Given the description of an element on the screen output the (x, y) to click on. 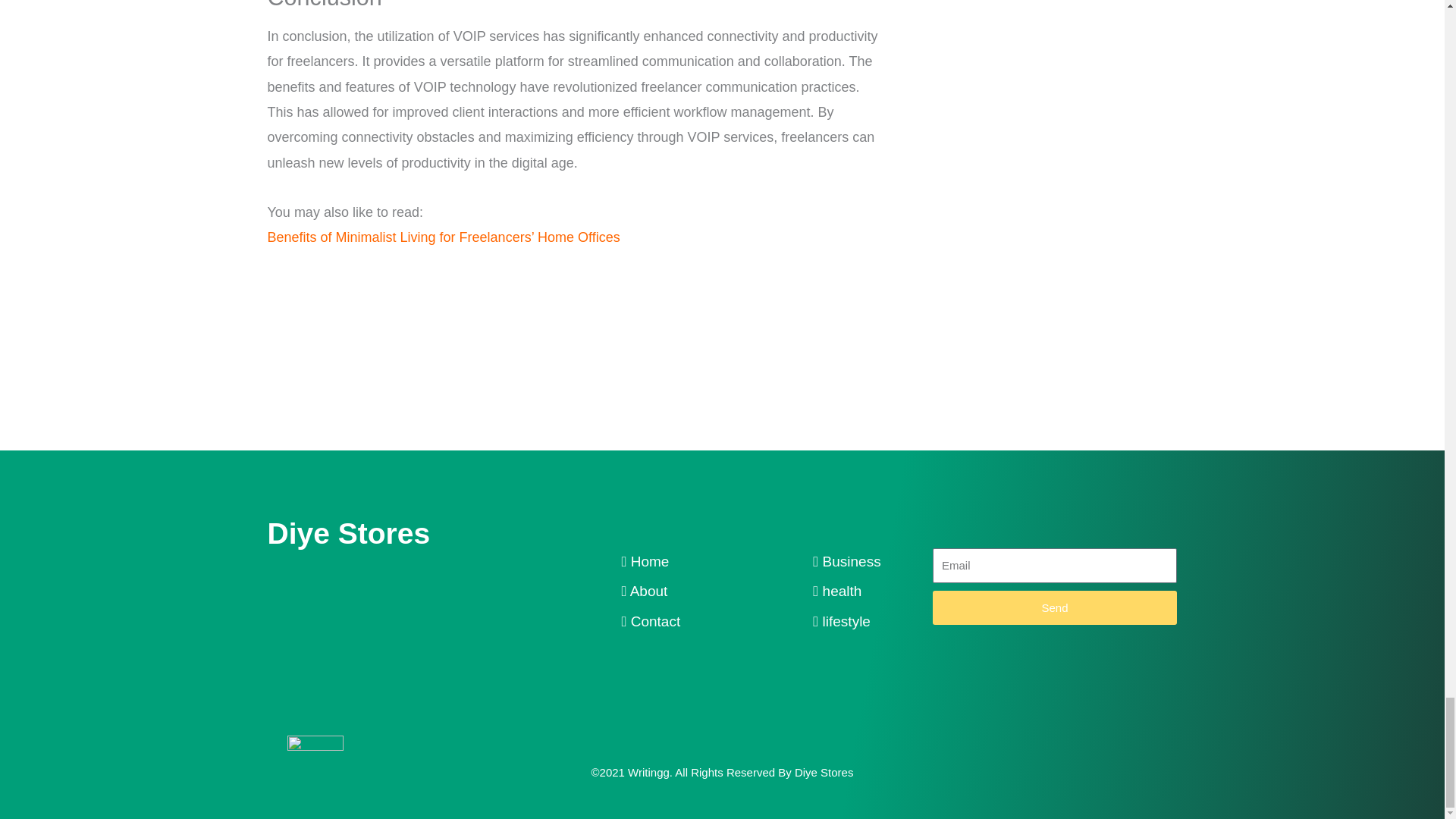
Diye Stores (347, 532)
Contact (650, 621)
lifestyle (841, 621)
Home (644, 561)
health (836, 590)
Business (846, 561)
Send (1054, 607)
About (643, 590)
